Given the description of an element on the screen output the (x, y) to click on. 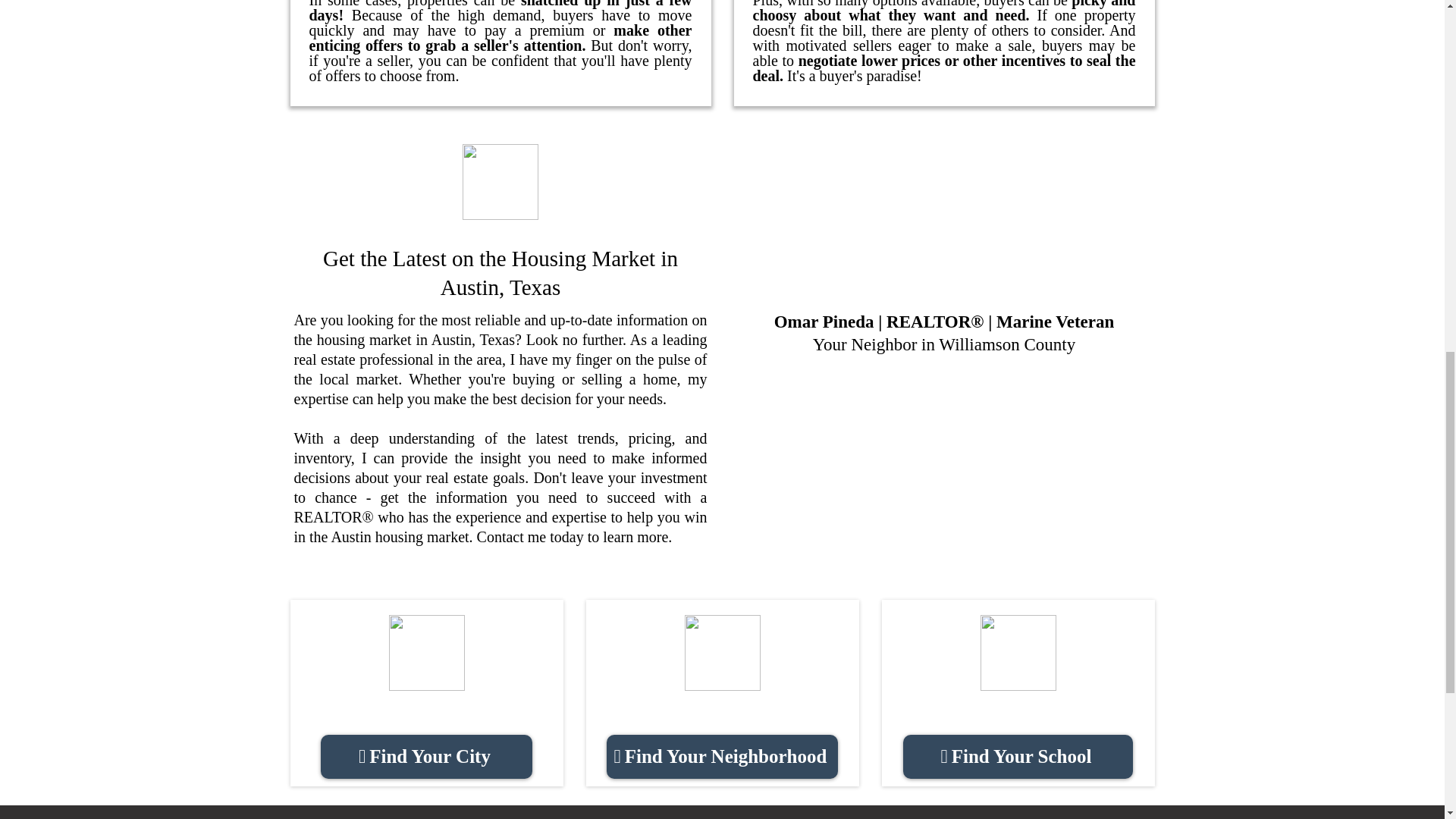
Find Your School (1018, 756)
Find Your City (426, 756)
Find Your Neighborhood (722, 756)
